Given the description of an element on the screen output the (x, y) to click on. 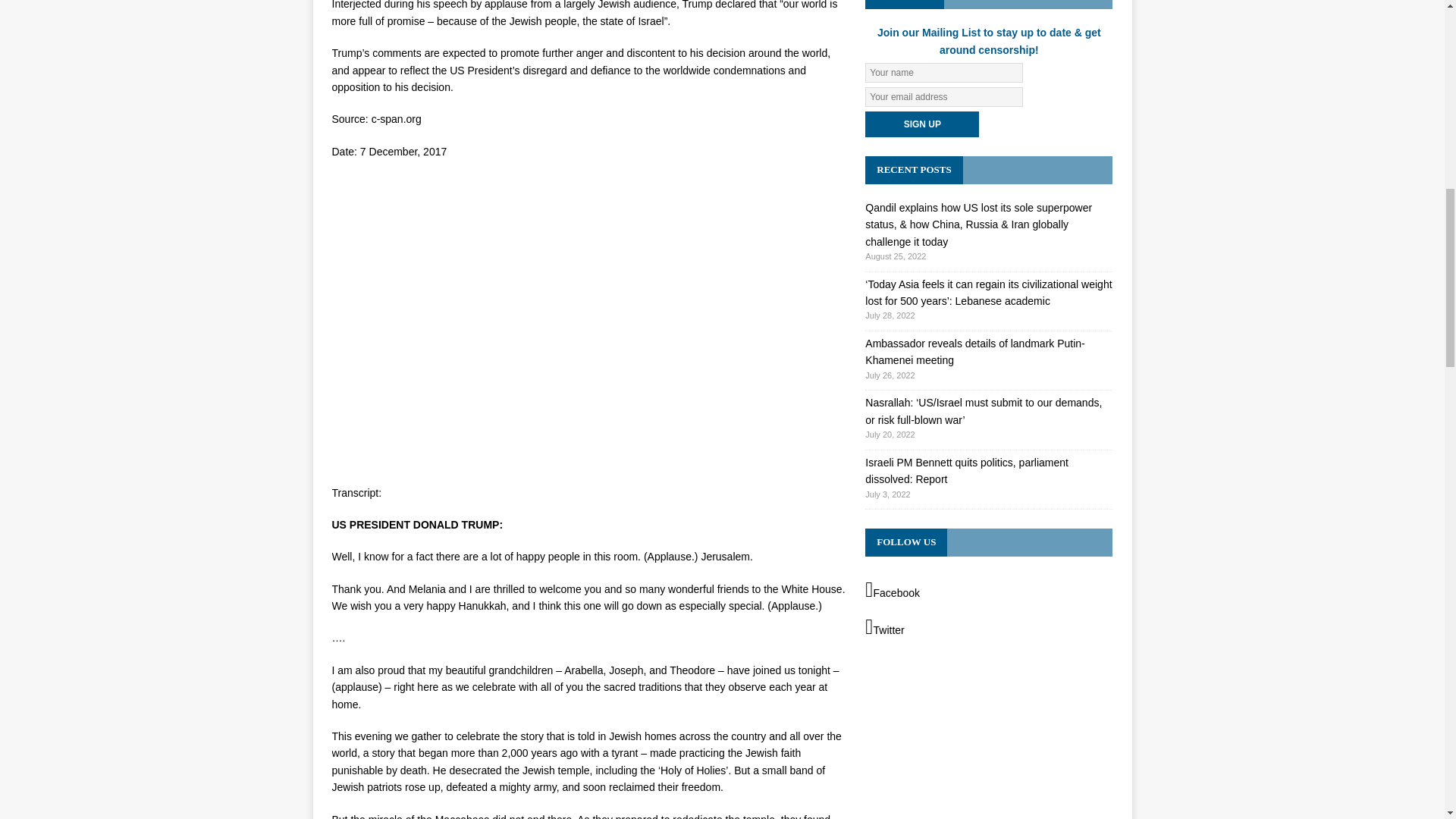
Sign up (921, 124)
Visit Middle East Observer on Facebook (988, 590)
Visit Middle East Observer on Twitter (988, 627)
